Given the description of an element on the screen output the (x, y) to click on. 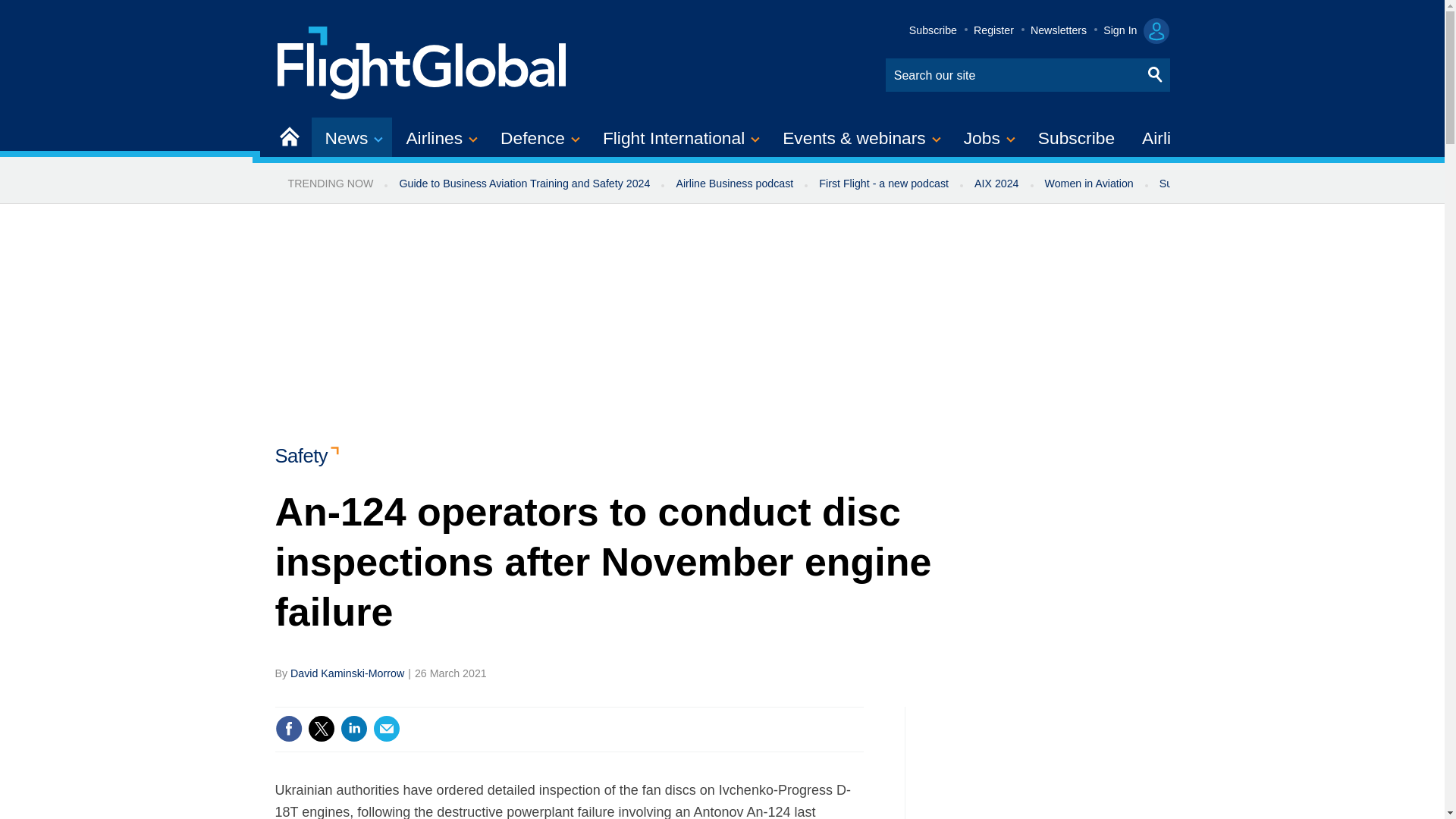
Email this article (386, 728)
Sustainable Aviation newsletter (1234, 183)
First Flight - a new podcast (883, 183)
Site name (422, 60)
Guide to Business Aviation Training and Safety 2024 (523, 183)
Share this on Twitter (320, 728)
Share this on Facebook (288, 728)
AIX 2024 (996, 183)
Airline Business podcast (734, 183)
Share this on Linked in (352, 728)
Women in Aviation (1089, 183)
